Given the description of an element on the screen output the (x, y) to click on. 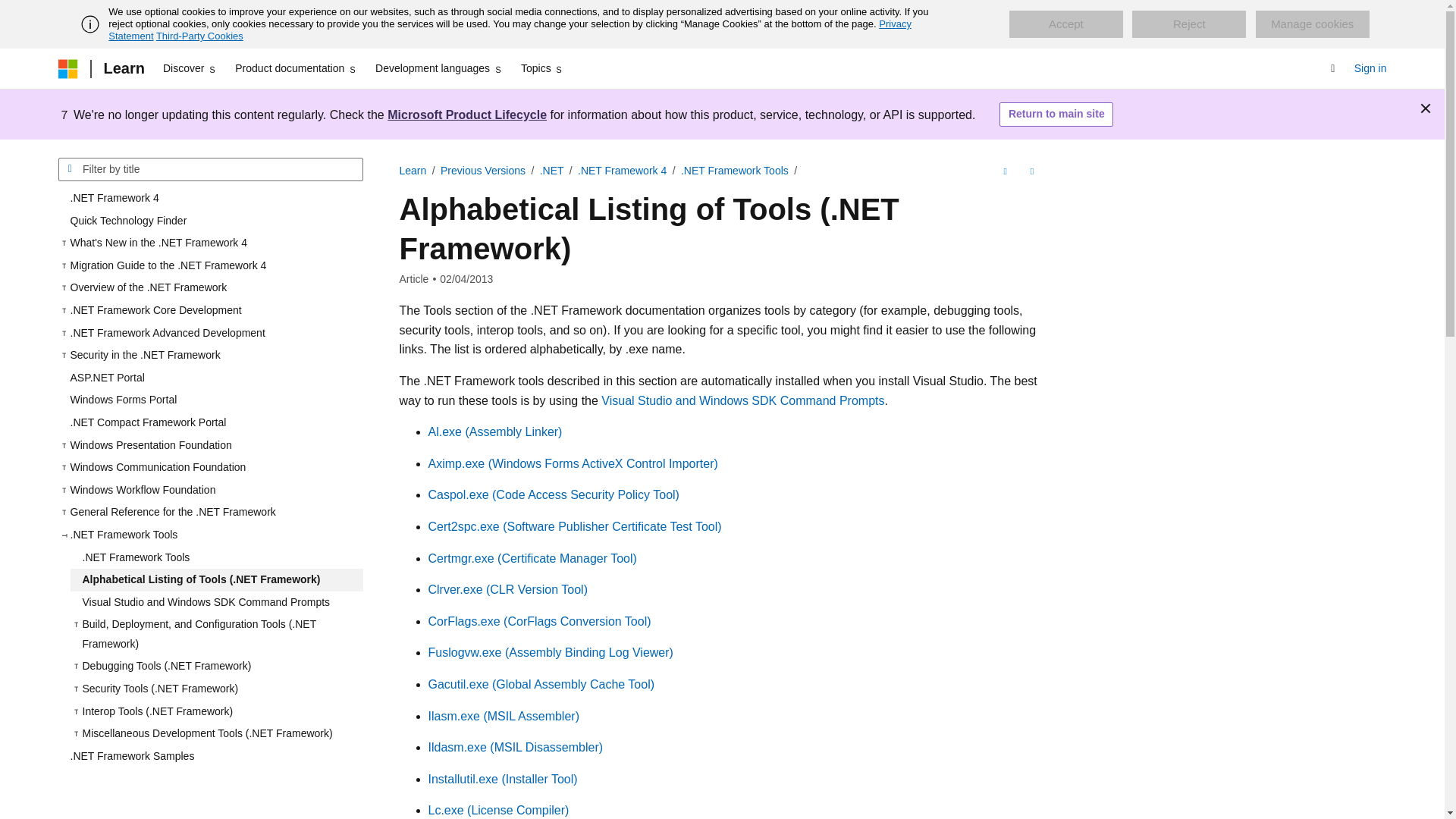
More actions (1031, 170)
Product documentation (295, 68)
Microsoft Product Lifecycle (467, 114)
Sign in (1370, 68)
Development languages (438, 68)
.NET Framework 4 (210, 198)
Learn (412, 170)
Topics (542, 68)
.NET Framework Samples (210, 756)
Visual Studio and Windows SDK Command Prompts (215, 602)
Privacy Statement (509, 29)
.NET Framework Tools (215, 557)
Third-Party Cookies (199, 35)
Return to main site (1055, 114)
Quick Technology Finder (210, 220)
